Given the description of an element on the screen output the (x, y) to click on. 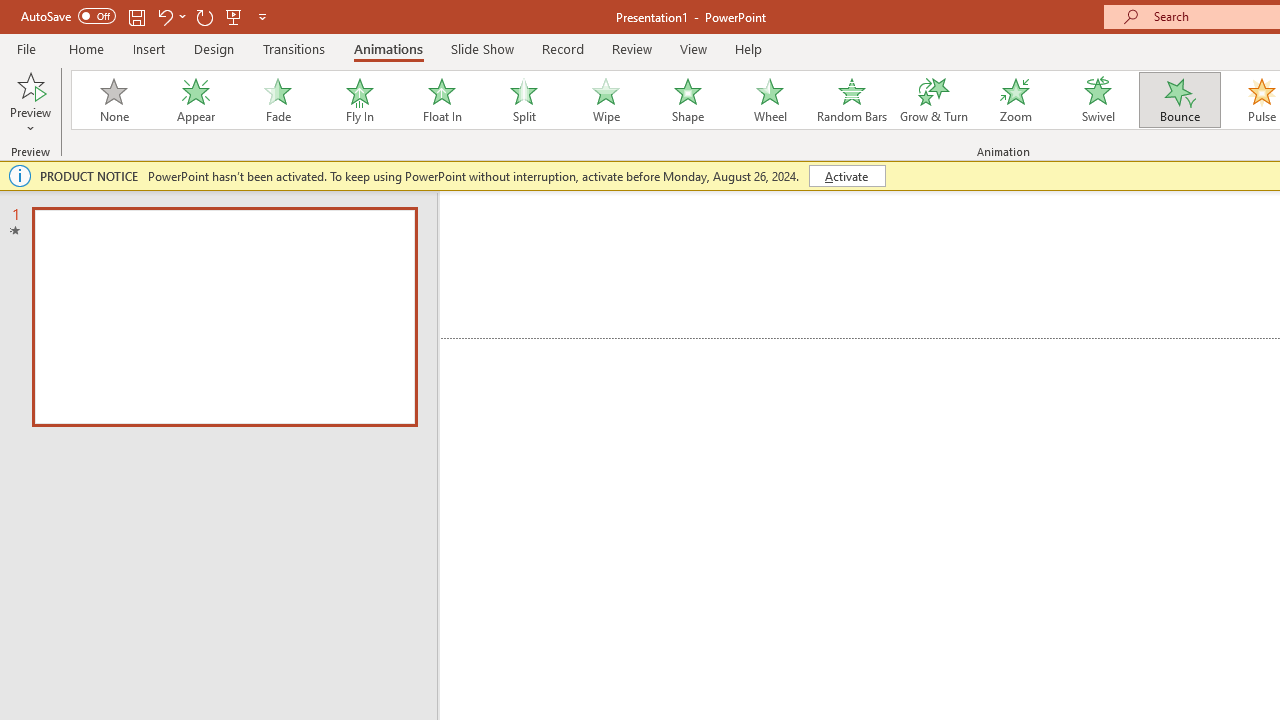
System (10, 11)
Animations (388, 48)
File Tab (26, 48)
Activate (846, 175)
Bounce (1180, 100)
Customize Quick Access Toolbar (262, 15)
Appear (195, 100)
Quick Access Toolbar (145, 16)
Fade (277, 100)
